Given the description of an element on the screen output the (x, y) to click on. 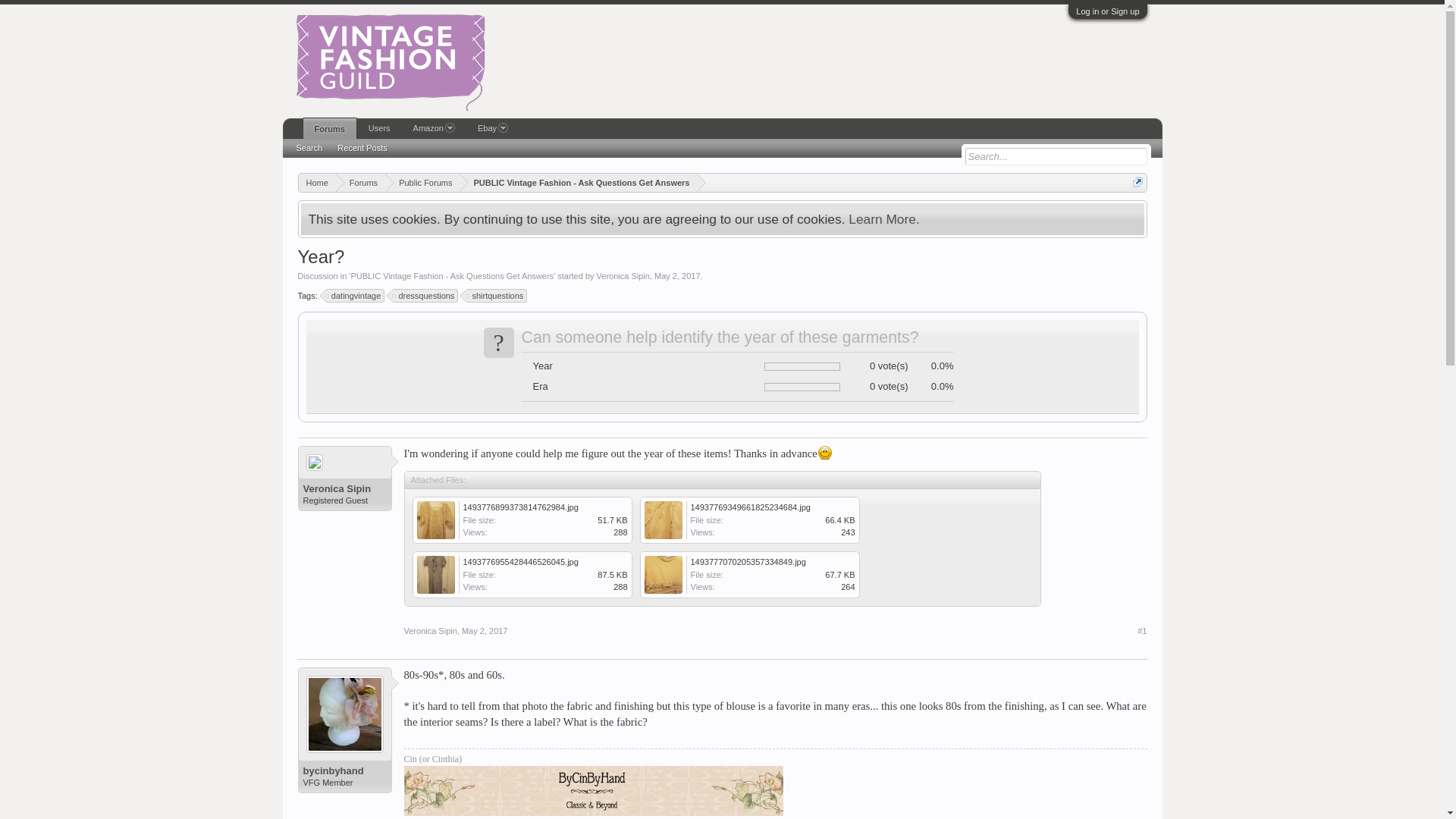
Home (317, 182)
1493777070205357334849.jpg (747, 561)
Forums (360, 182)
1493776899373814762984.jpg (520, 506)
PUBLIC Vintage Fashion - Ask Questions Get Answers (451, 275)
Veronica Sipin (344, 489)
1493776955428446526045.jpg (520, 561)
Public Forums (422, 182)
May 2, 2017 at 9:13 PM (676, 275)
May 2, 2017 (676, 275)
Open quick navigation (1137, 182)
Veronica Sipin (430, 630)
14937769349661825234684.jpg (753, 523)
Log in or Sign up (1106, 10)
May 2, 2017 (484, 630)
